Given the description of an element on the screen output the (x, y) to click on. 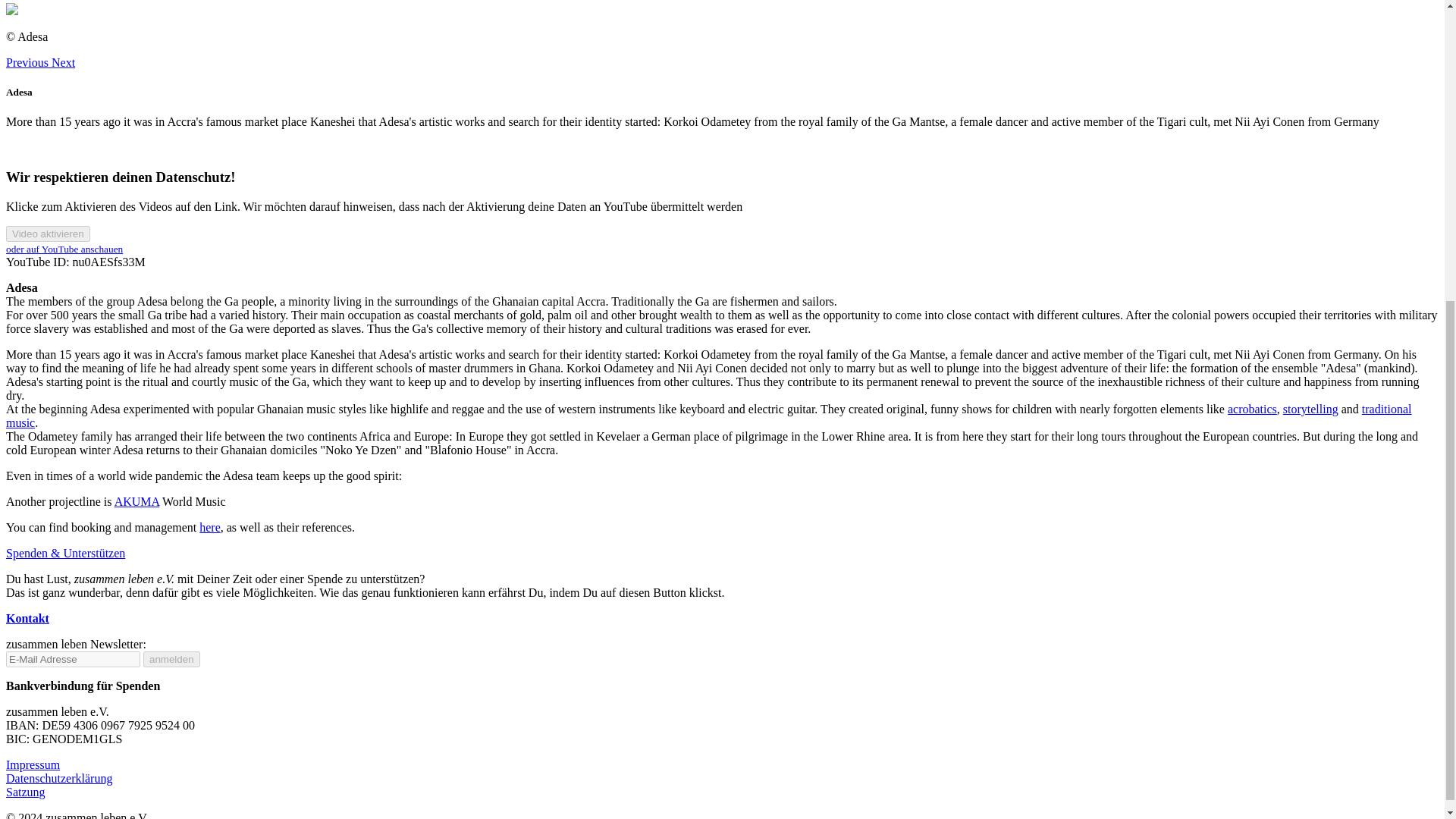
anmelden (171, 659)
acrobatics (1251, 408)
oder auf YouTube anschauen (63, 248)
Next (62, 62)
traditional music (708, 415)
storytelling (1310, 408)
Video aktivieren (47, 233)
Previous (27, 62)
